Given the description of an element on the screen output the (x, y) to click on. 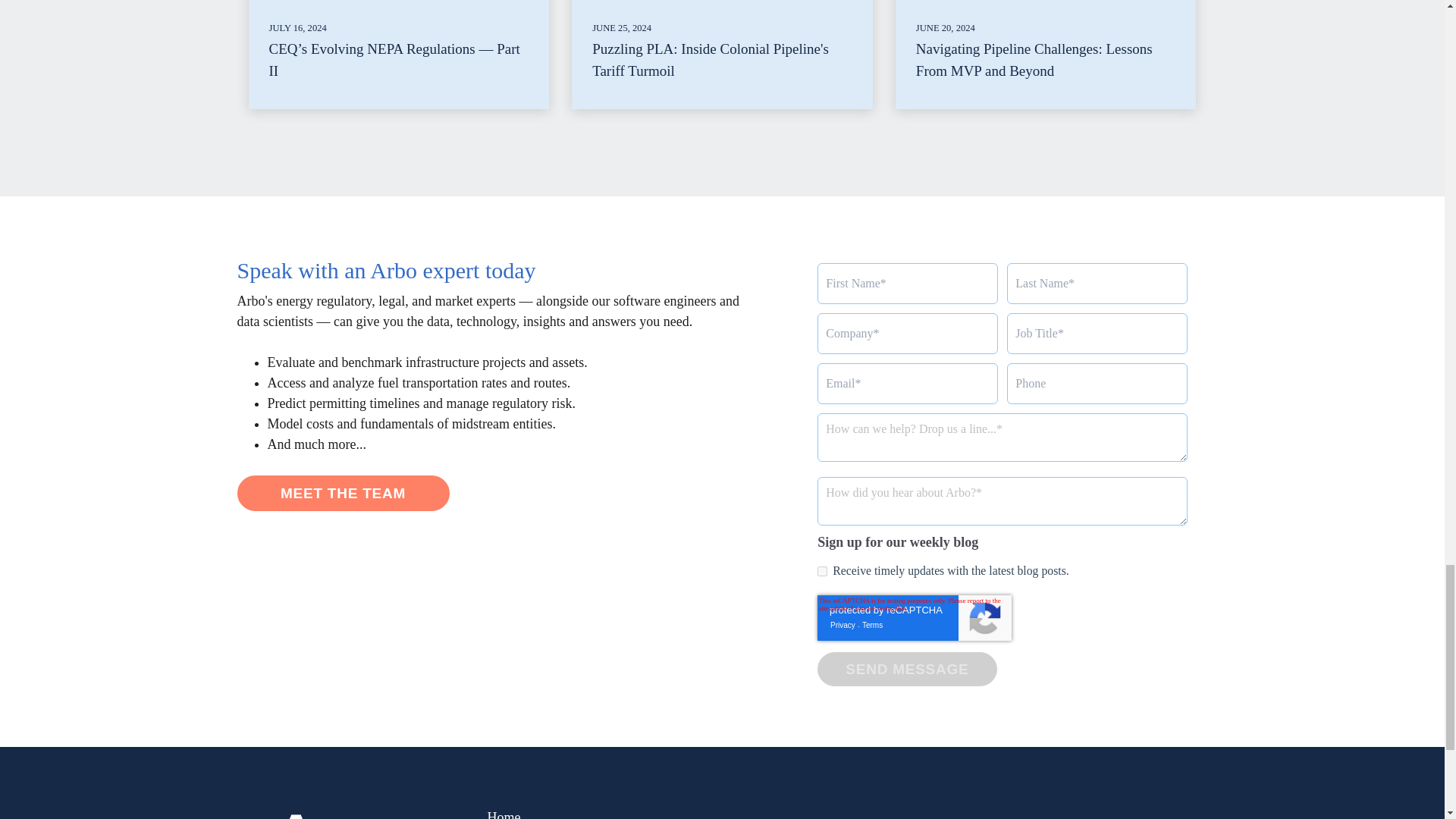
true (821, 571)
SEND MESSAGE (905, 668)
reCAPTCHA (913, 617)
